Given the description of an element on the screen output the (x, y) to click on. 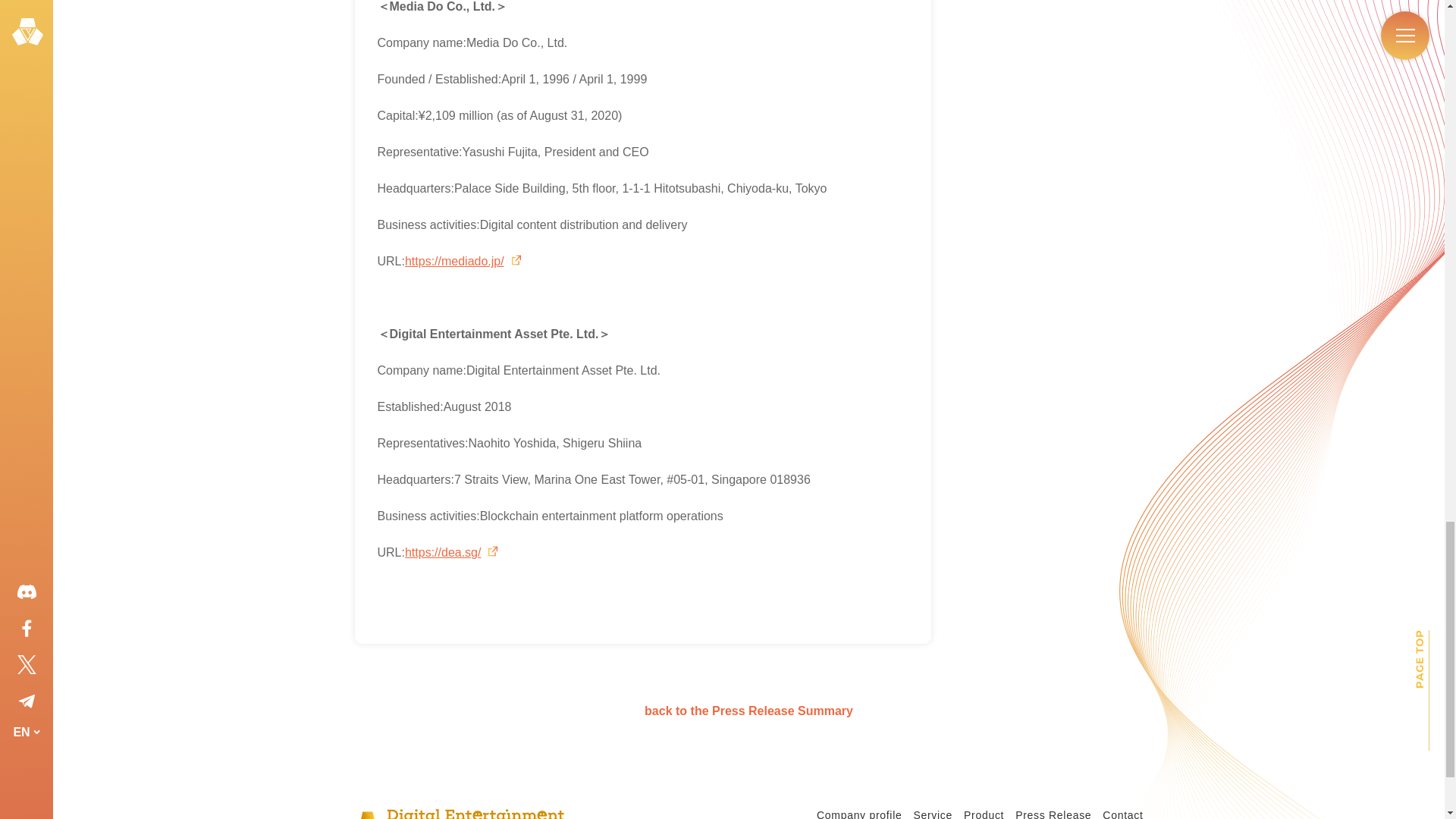
Press Release (1052, 814)
Contact (1122, 814)
Service (932, 814)
Product (983, 814)
back to the Press Release Summary (749, 710)
Company profile (858, 814)
